Given the description of an element on the screen output the (x, y) to click on. 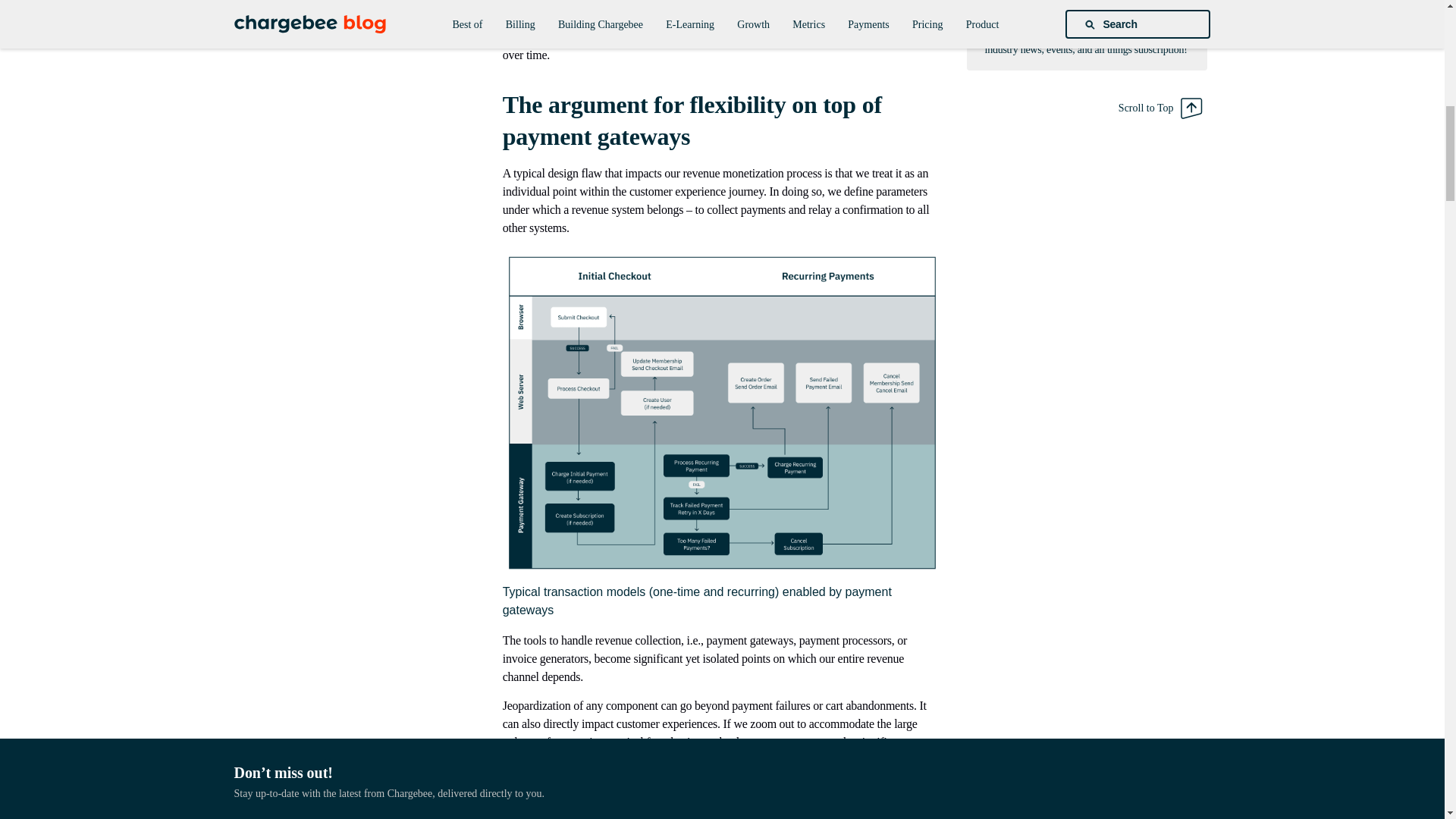
Scroll to Top (1160, 108)
Scroll to Top (1160, 108)
